Given the description of an element on the screen output the (x, y) to click on. 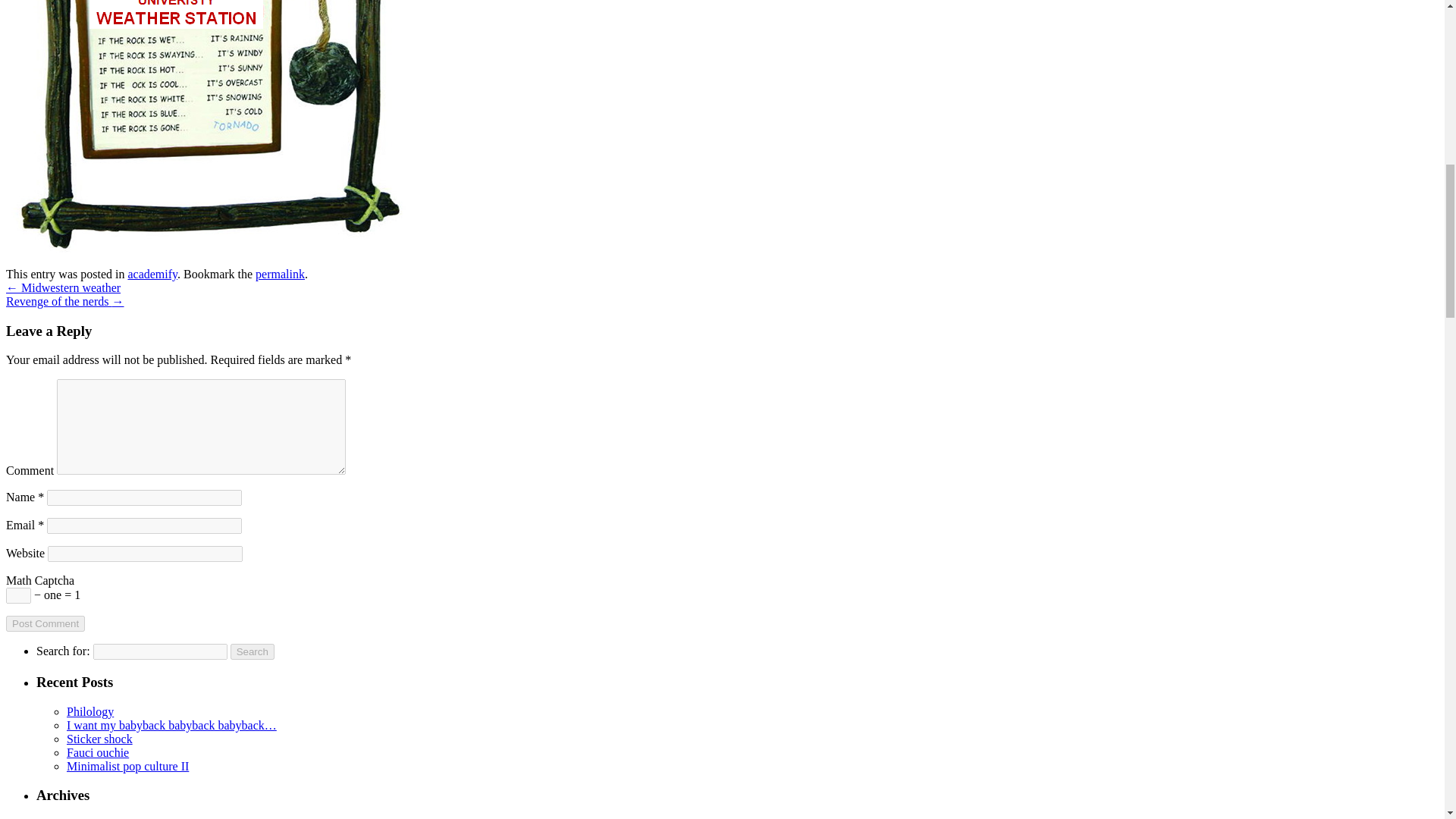
Minimalist pop culture II (127, 766)
Search (252, 651)
Post Comment (44, 623)
June 2021 (91, 818)
Search (252, 651)
Philology (89, 711)
academify (152, 273)
Sticker shock (99, 738)
Permalink to No business like snow business (280, 273)
Post Comment (44, 623)
